Given the description of an element on the screen output the (x, y) to click on. 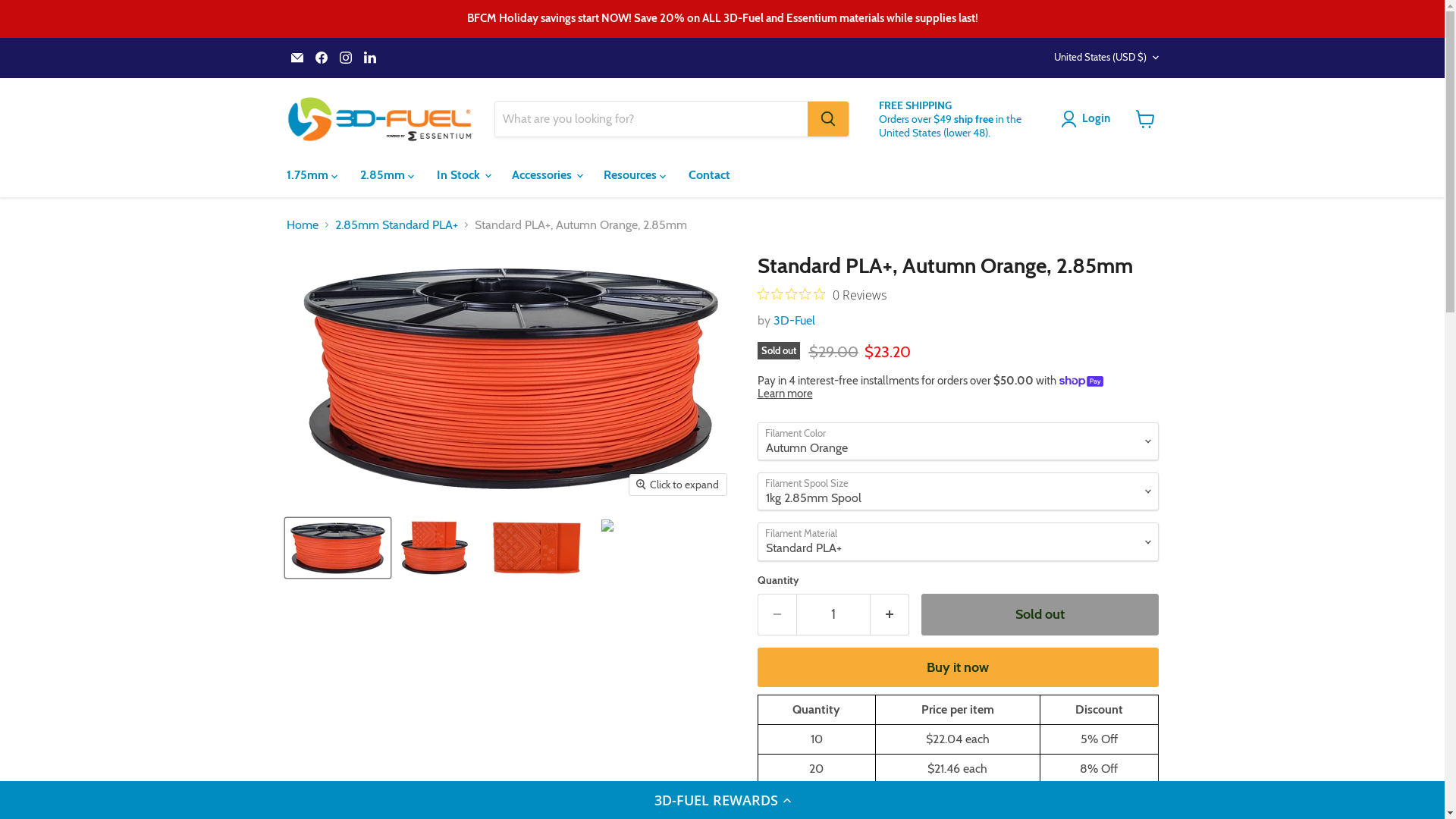
Home Element type: text (302, 225)
Buy it now Element type: text (956, 667)
Email 3D-Fuel Element type: text (296, 57)
Login Element type: text (1088, 118)
2.85mm Standard PLA+ Element type: text (396, 225)
Find us on Instagram Element type: text (345, 57)
View cart Element type: text (1145, 118)
United States (USD $) Element type: text (1102, 57)
Find us on LinkedIn Element type: text (369, 57)
Sold out Element type: text (1038, 614)
3D-Fuel Element type: text (794, 320)
Click to expand Element type: text (677, 484)
Find us on Facebook Element type: text (321, 57)
Contact Element type: text (708, 175)
